Given the description of an element on the screen output the (x, y) to click on. 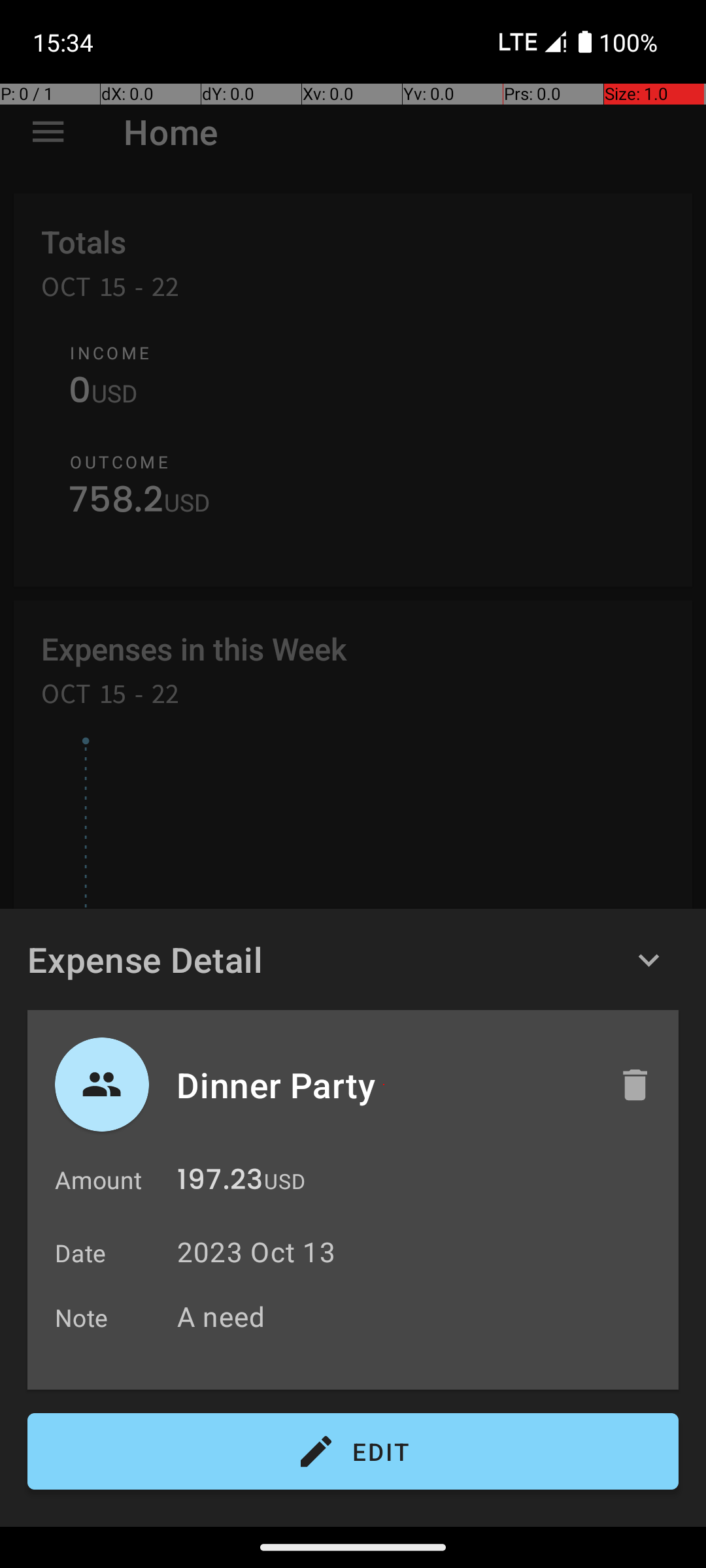
Dinner Party Element type: android.widget.TextView (383, 1084)
197.23 Element type: android.widget.TextView (219, 1182)
